Given the description of an element on the screen output the (x, y) to click on. 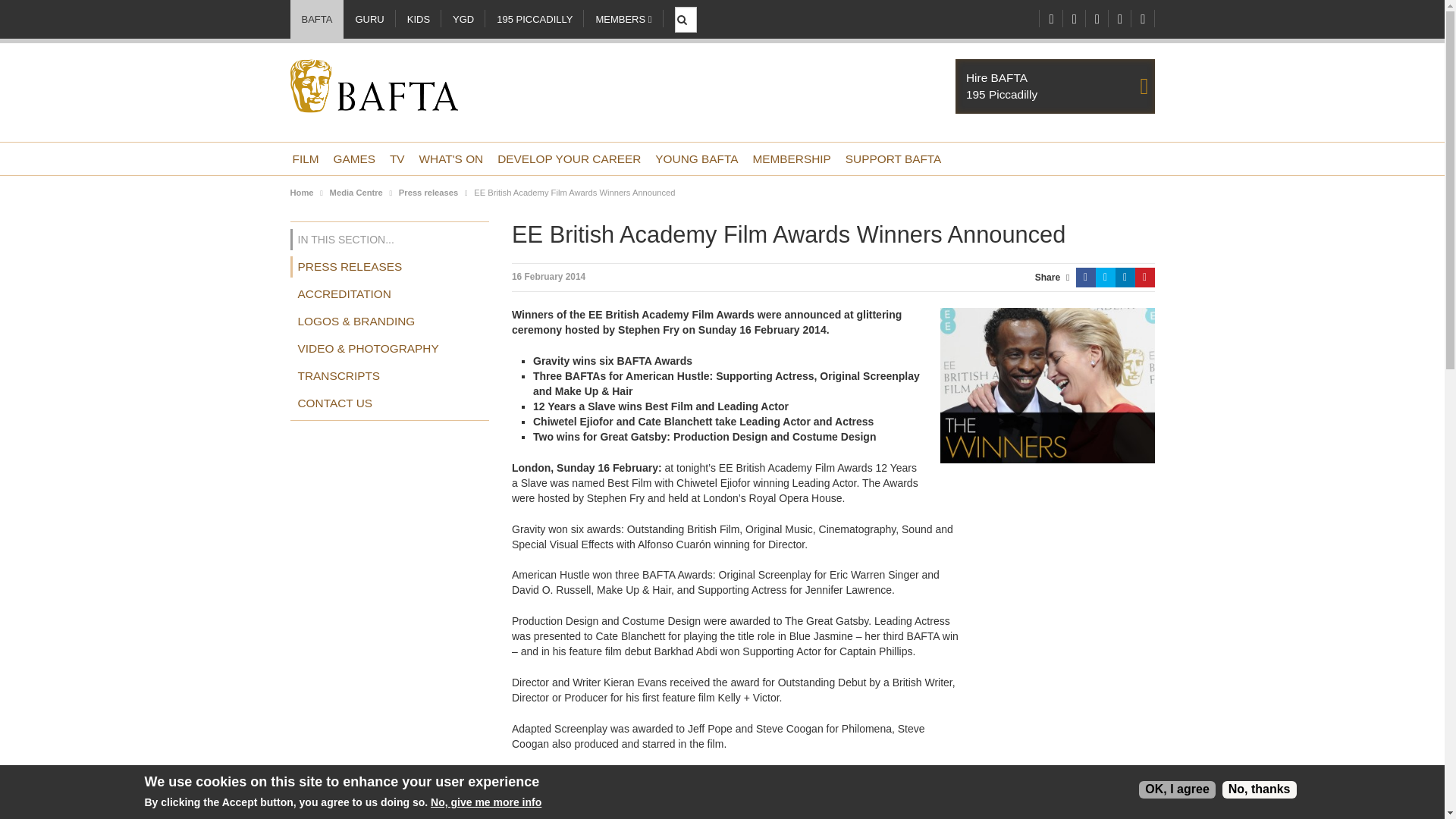
FILM (304, 158)
Home page (373, 92)
SUPPORT BAFTA (893, 158)
Share on LinkedIn (1124, 277)
GURU (1054, 85)
GAMES (368, 19)
Search (353, 158)
DEVELOP YOUR CAREER (687, 10)
MEMBERSHIP (569, 158)
Membership (790, 158)
WHAT'S ON (790, 158)
195 PICCADILLY (451, 158)
BAFTA (533, 19)
